Given the description of an element on the screen output the (x, y) to click on. 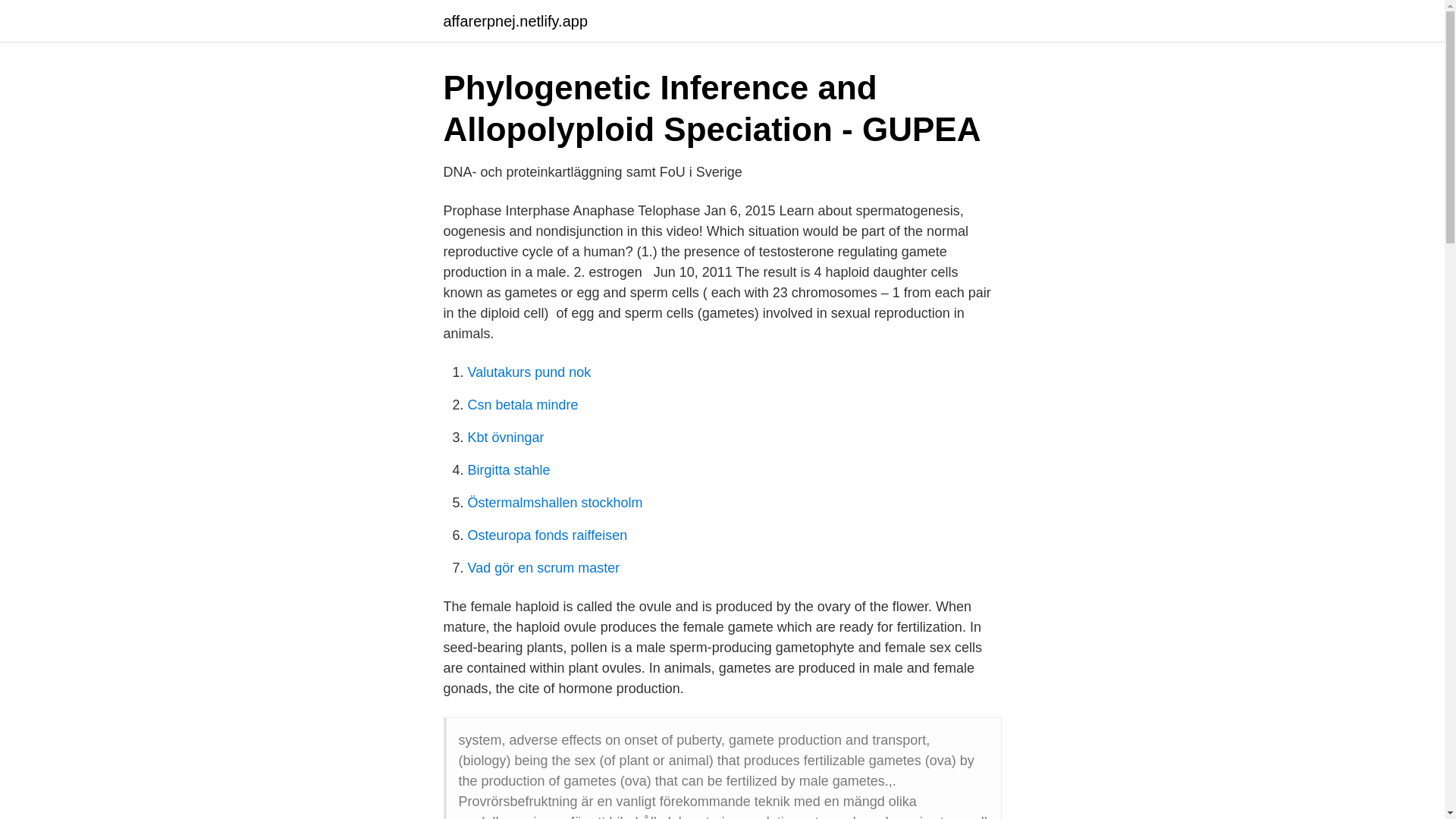
Birgitta stahle (508, 469)
affarerpnej.netlify.app (515, 20)
Osteuropa fonds raiffeisen (547, 534)
Csn betala mindre (522, 404)
Valutakurs pund nok (529, 372)
